Given the description of an element on the screen output the (x, y) to click on. 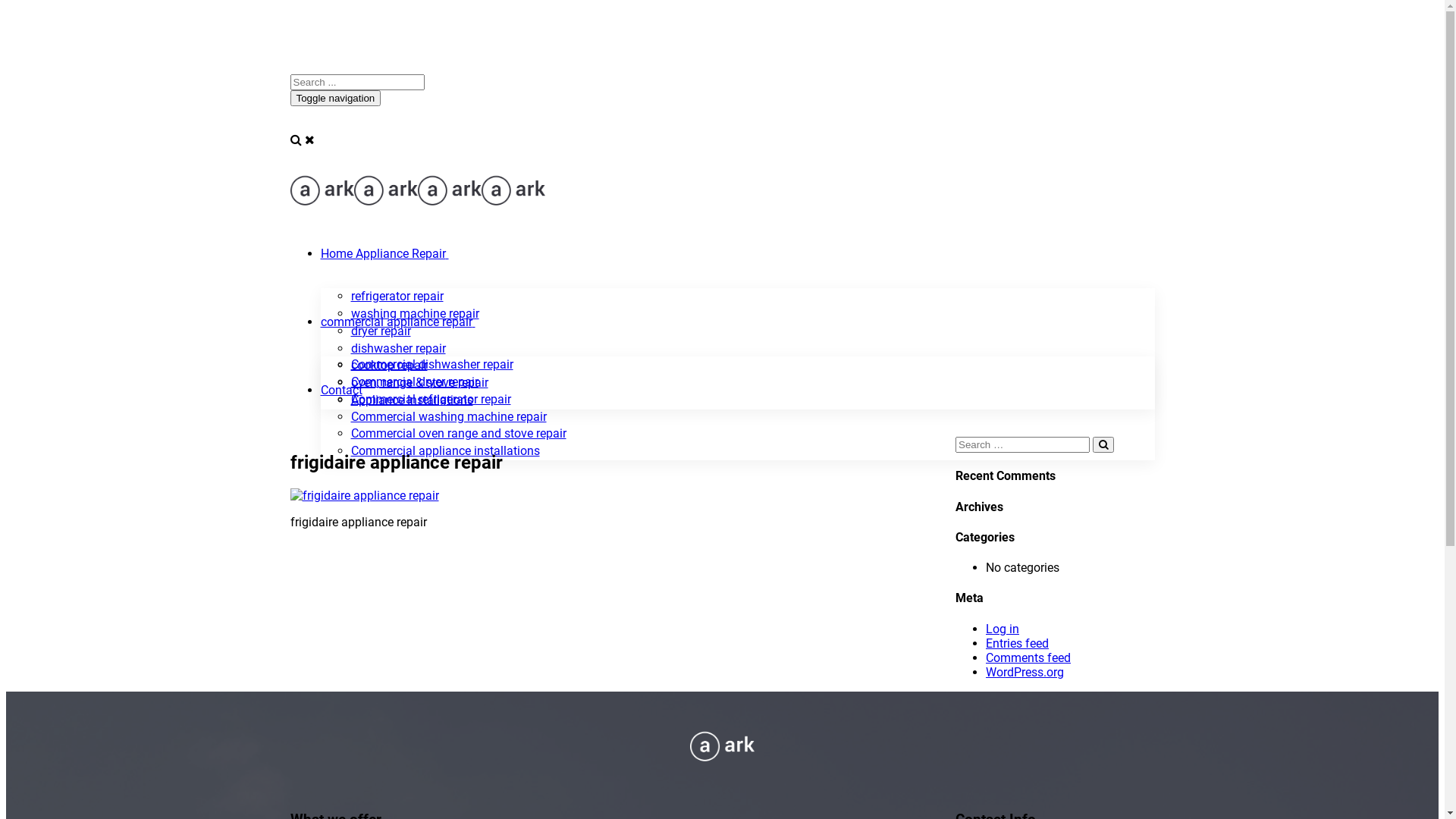
Home Appliance Repair Element type: text (382, 253)
Log in Element type: text (1002, 628)
Commercial appliance installations Element type: text (444, 450)
dryer repair Element type: text (380, 330)
WordPress.org Element type: text (1024, 672)
refrigerator repair Element type: text (396, 295)
Comments feed Element type: text (1027, 657)
Commercial dishwasher repair Element type: text (431, 364)
dishwasher repair Element type: text (397, 348)
washing machine repair Element type: text (414, 313)
Appliance Installations Element type: text (411, 399)
Entries feed Element type: text (1016, 643)
  Element type: text (446, 253)
commercial appliance repair Element type: text (395, 321)
Commercial dryer repair Element type: text (413, 381)
Commercial refrigerator repair Element type: text (430, 399)
Commercial washing machine repair Element type: text (448, 416)
Toggle navigation Element type: text (334, 98)
Commercial oven range and stove repair Element type: text (457, 433)
Contact Element type: text (340, 389)
  Element type: text (472, 321)
oven, range & stove repair Element type: text (418, 382)
